Given the description of an element on the screen output the (x, y) to click on. 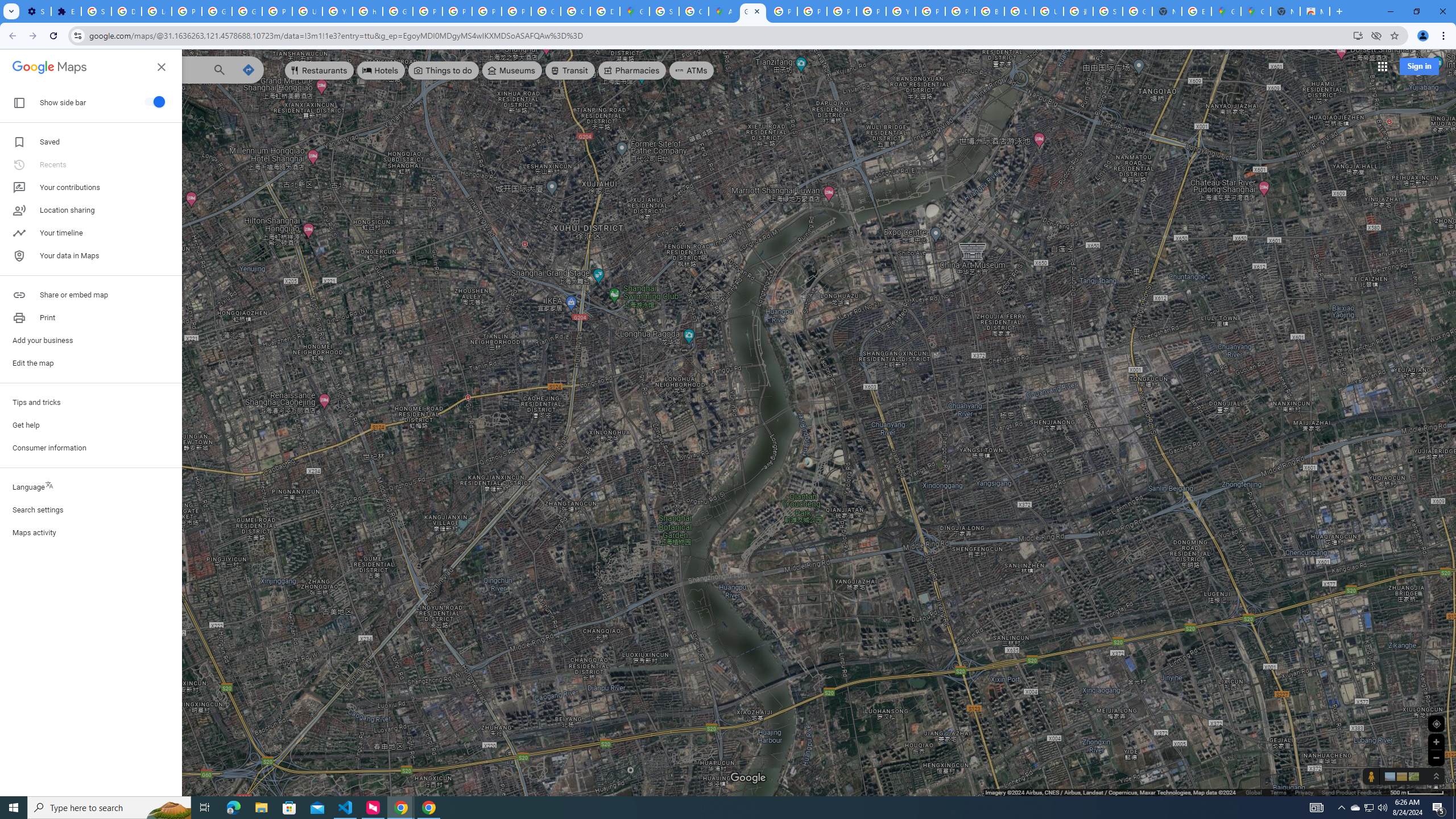
Settings - On startup (36, 11)
Recents (90, 164)
Menu (20, 68)
Get help (90, 425)
Delete photos & videos - Computer - Google Photos Help (126, 11)
YouTube (900, 11)
Google Maps (1226, 11)
Layers (74, 762)
